Given the description of an element on the screen output the (x, y) to click on. 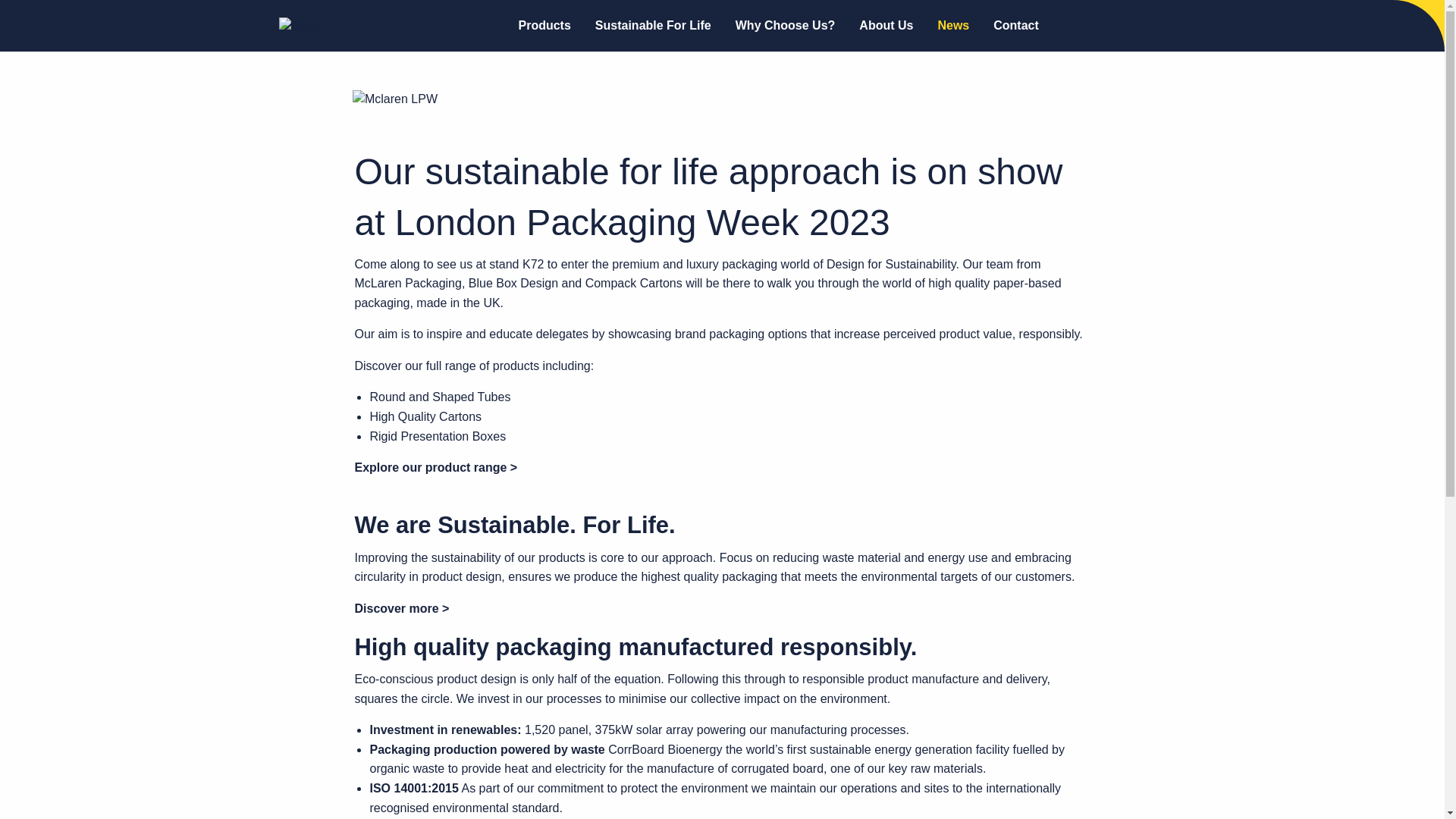
Sustainable For Life (653, 25)
News (952, 25)
Why Choose Us? (785, 25)
Contact (1016, 25)
About Us (885, 25)
Products (544, 25)
